Given the description of an element on the screen output the (x, y) to click on. 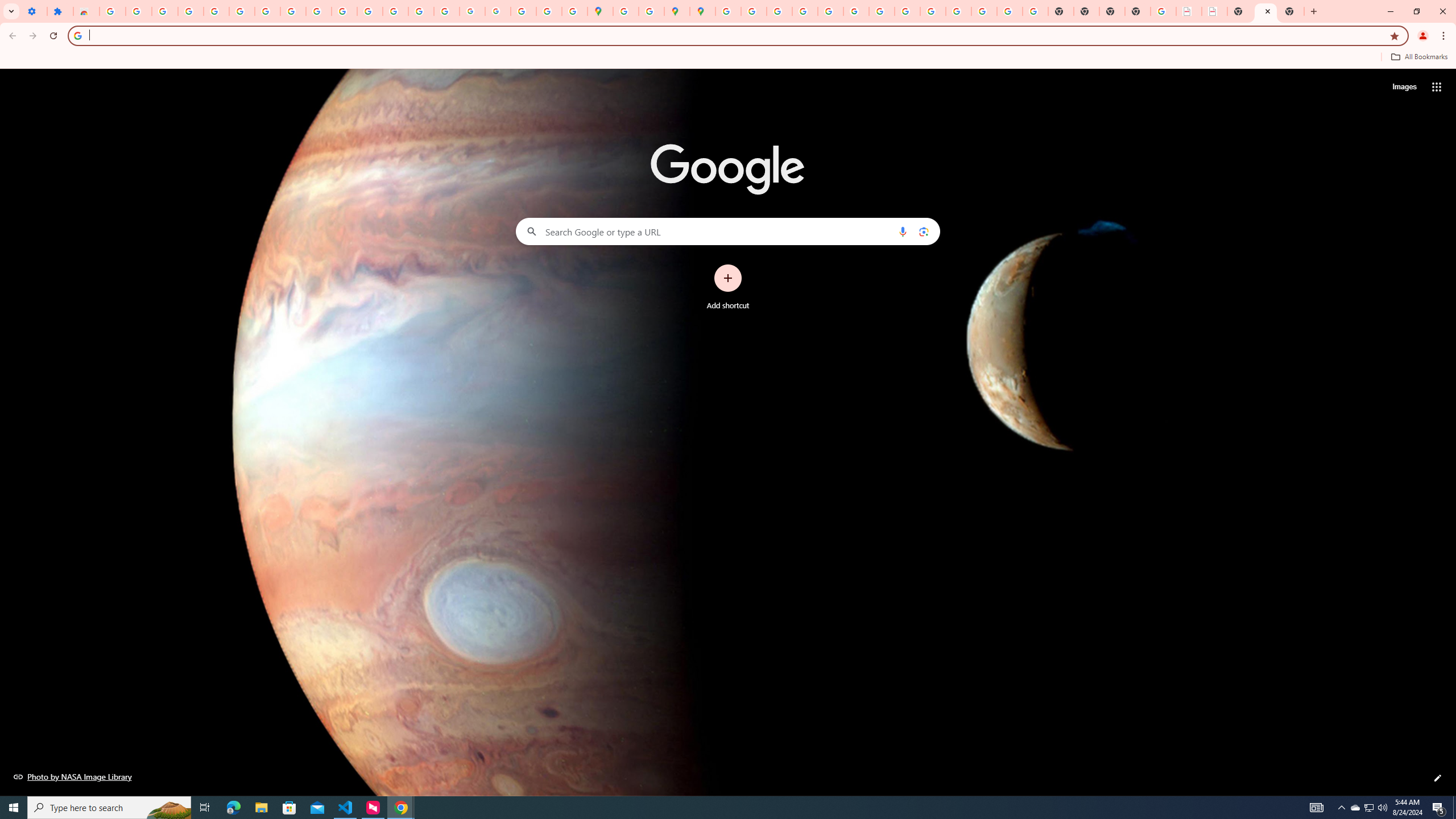
Privacy Help Center - Policies Help (804, 11)
Search by voice (902, 230)
Sign in - Google Accounts (112, 11)
Settings - On startup (34, 11)
https://scholar.google.com/ (369, 11)
Delete photos & videos - Computer - Google Photos Help (165, 11)
LAAD Defence & Security 2025 | BAE Systems (1188, 11)
New Tab (1137, 11)
